Given the description of an element on the screen output the (x, y) to click on. 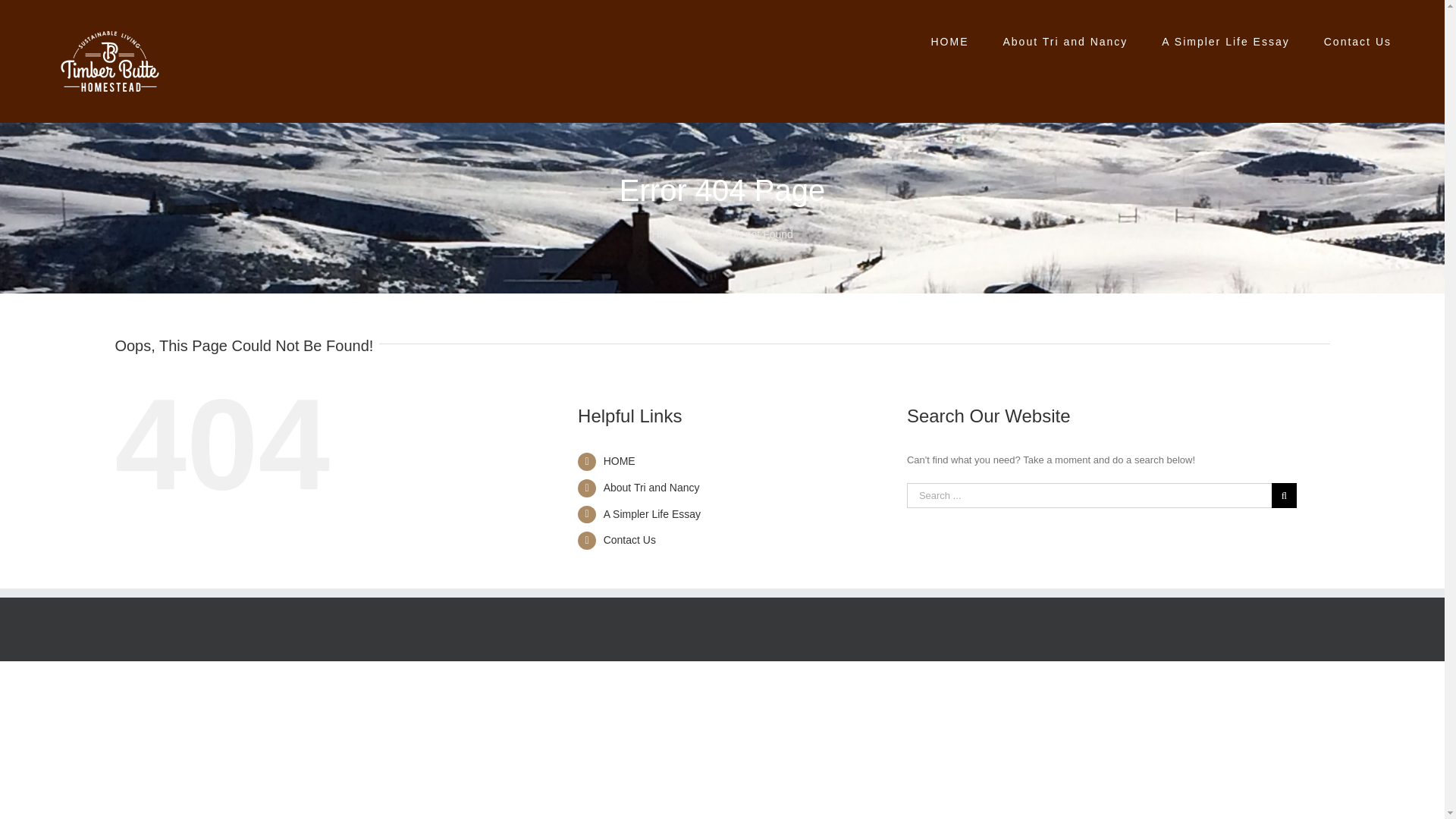
Contact Us (630, 539)
A Simpler Life Essay (1224, 40)
Home (664, 233)
A Simpler Life Essay (652, 513)
HOME (619, 460)
About Tri and Nancy (652, 487)
About Tri and Nancy (1064, 40)
